Given the description of an element on the screen output the (x, y) to click on. 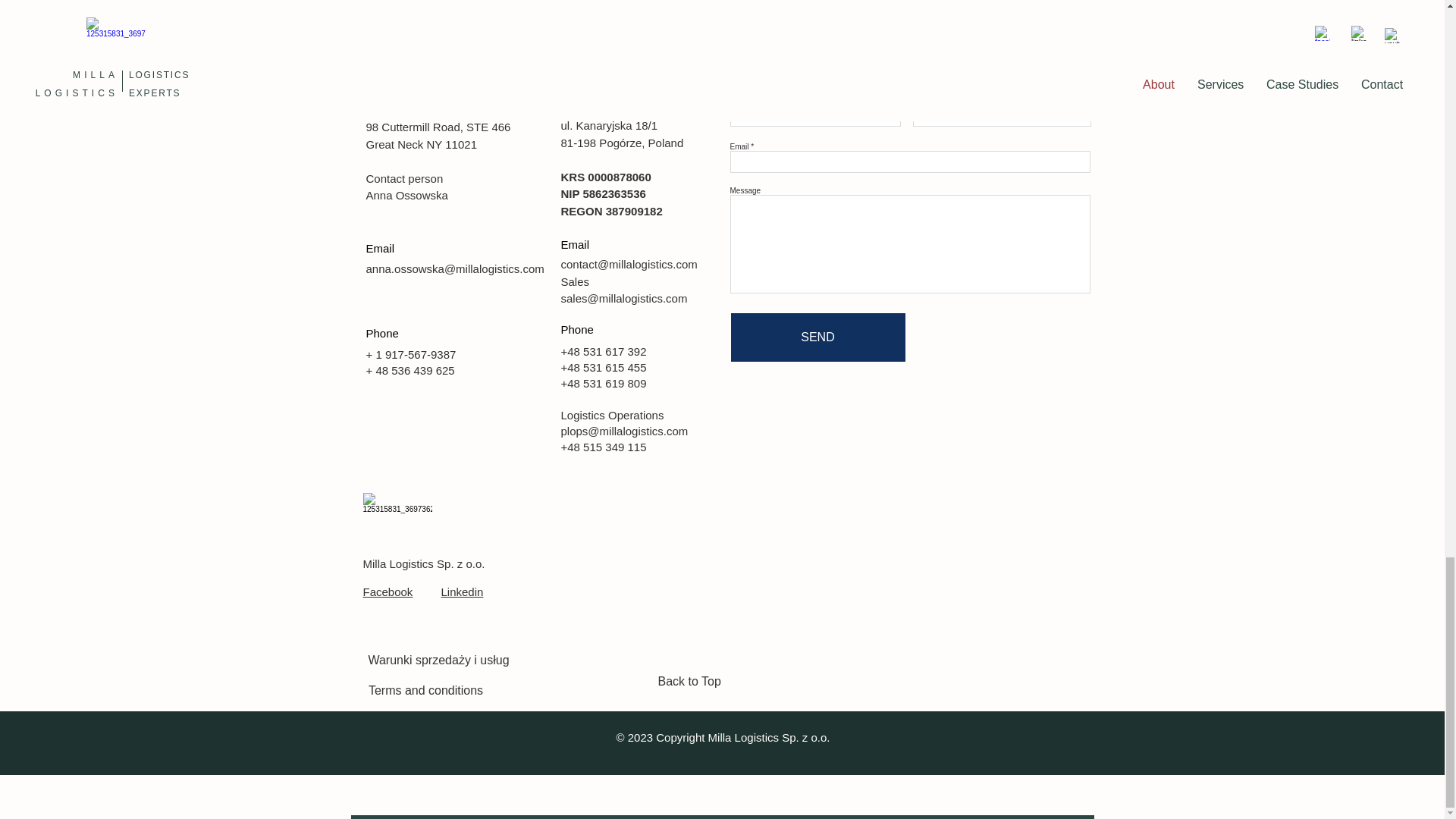
Linkedin (462, 591)
SEND (817, 337)
Back to Top (703, 681)
Facebook (387, 591)
Terms and conditions (424, 690)
